Given the description of an element on the screen output the (x, y) to click on. 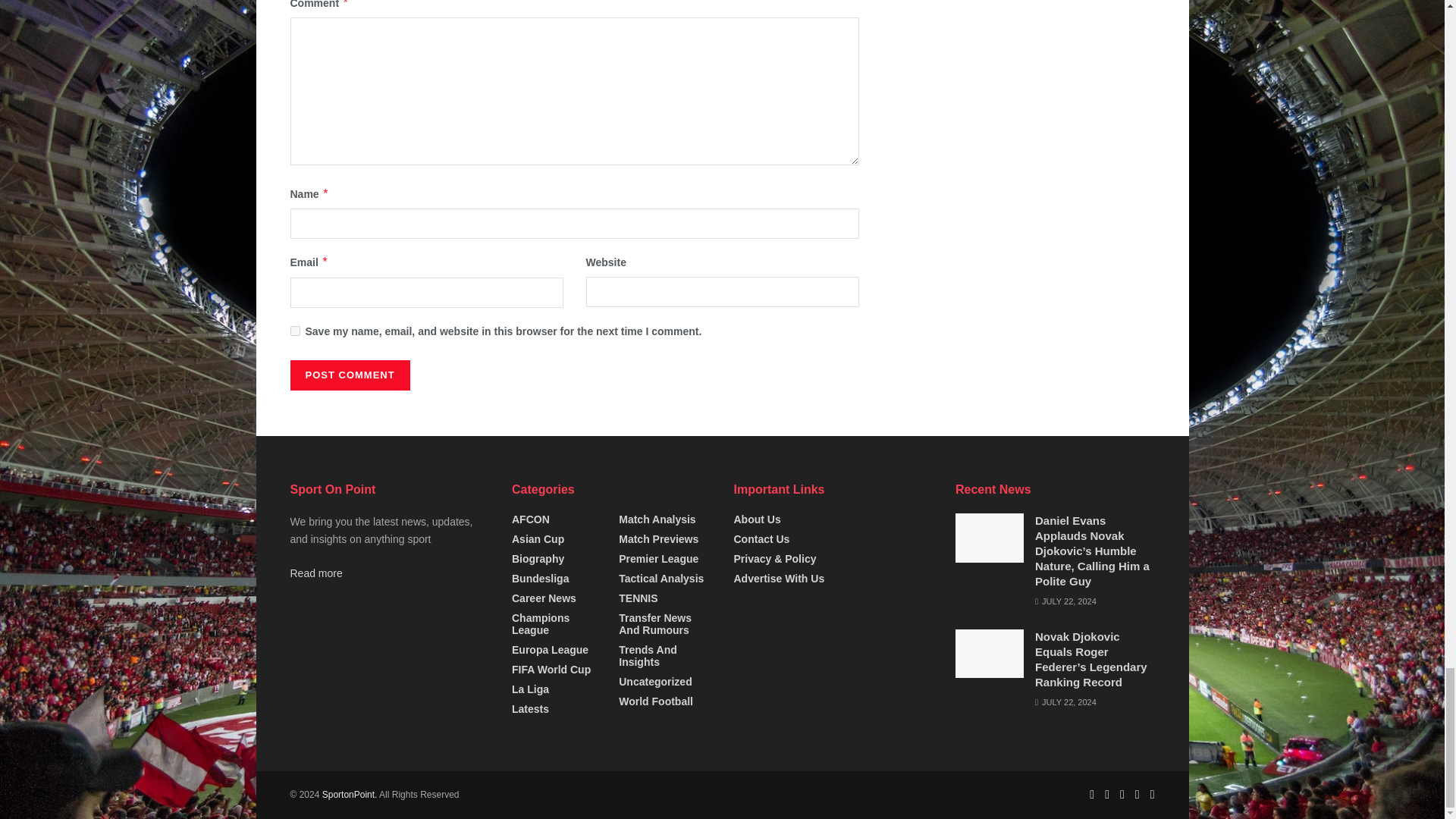
Post Comment (349, 375)
yes (294, 330)
Home Of Everything Sports (349, 794)
